Given the description of an element on the screen output the (x, y) to click on. 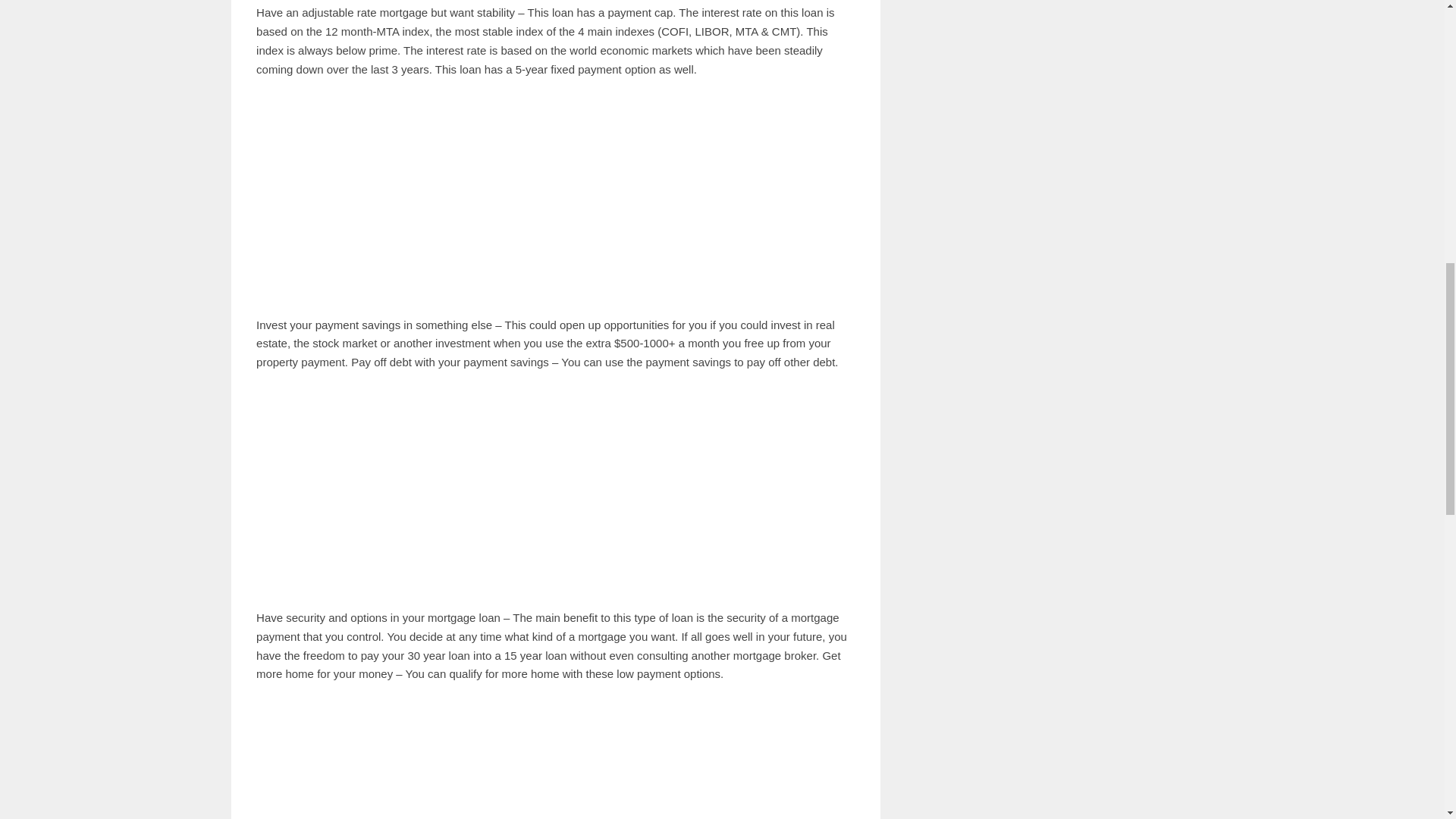
Advertisement (555, 490)
Advertisement (555, 757)
Advertisement (555, 197)
